Given the description of an element on the screen output the (x, y) to click on. 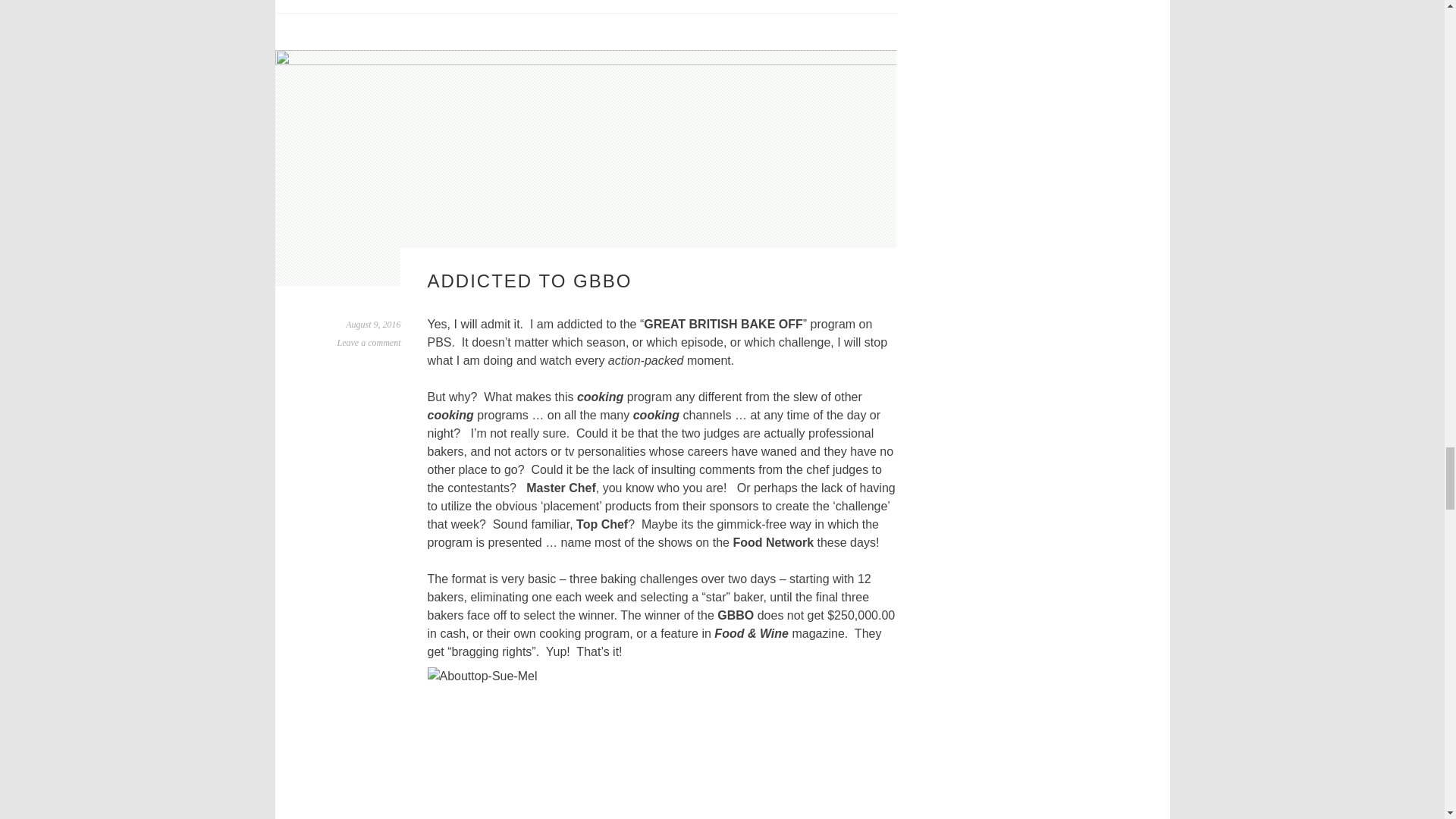
August 9, 2016 (373, 324)
Permalink to Addicted to GBBO (373, 324)
Leave a comment (369, 342)
ADDICTED TO GBBO (529, 281)
